Given the description of an element on the screen output the (x, y) to click on. 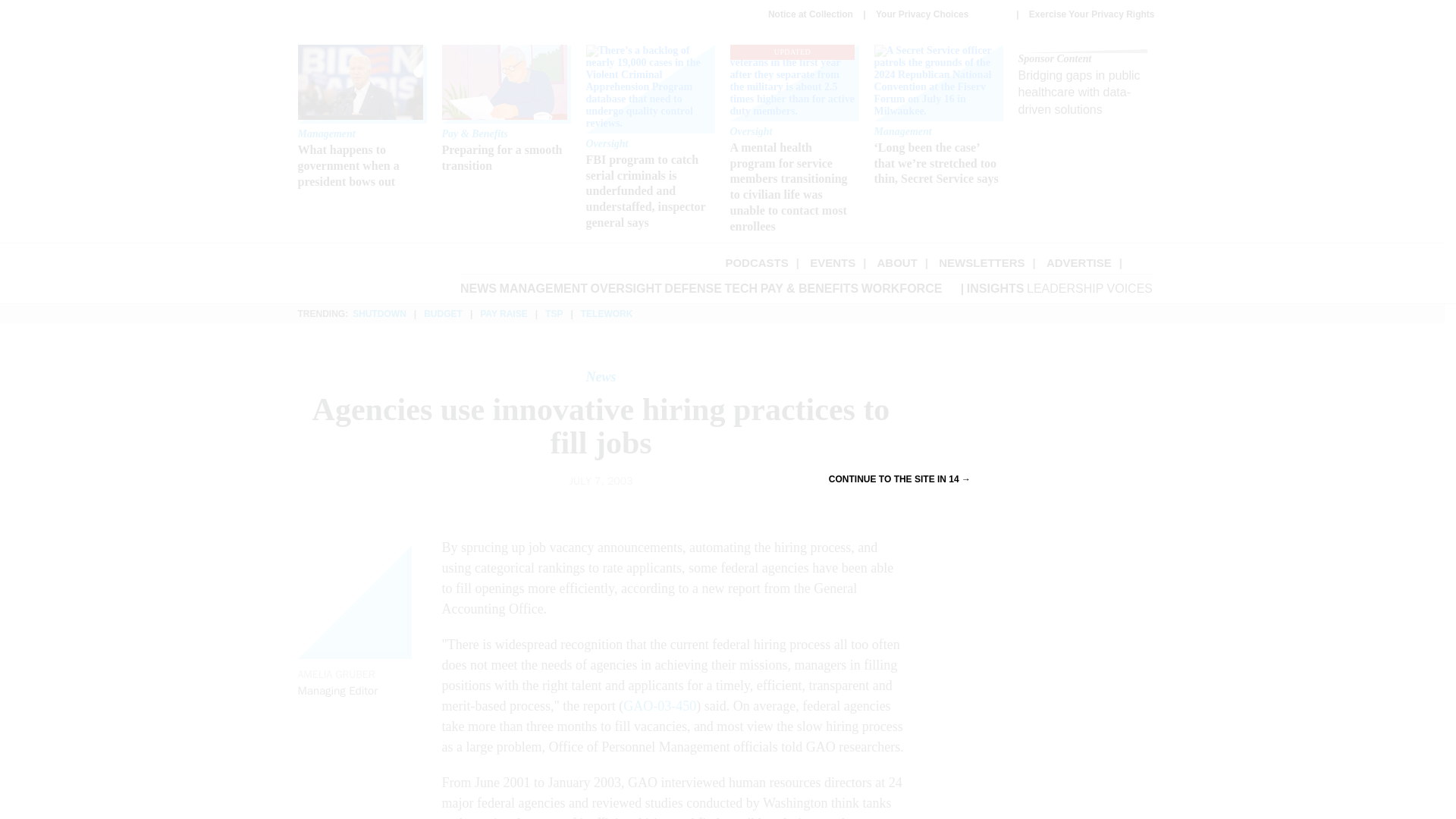
ABOUT (897, 262)
PODCASTS (756, 262)
EVENTS (832, 262)
Notice at Collection (810, 14)
Exercise Your Privacy Rights (1091, 14)
ADVERTISE (1079, 262)
NEWSLETTERS (982, 262)
Your Privacy Choices (941, 14)
